Given the description of an element on the screen output the (x, y) to click on. 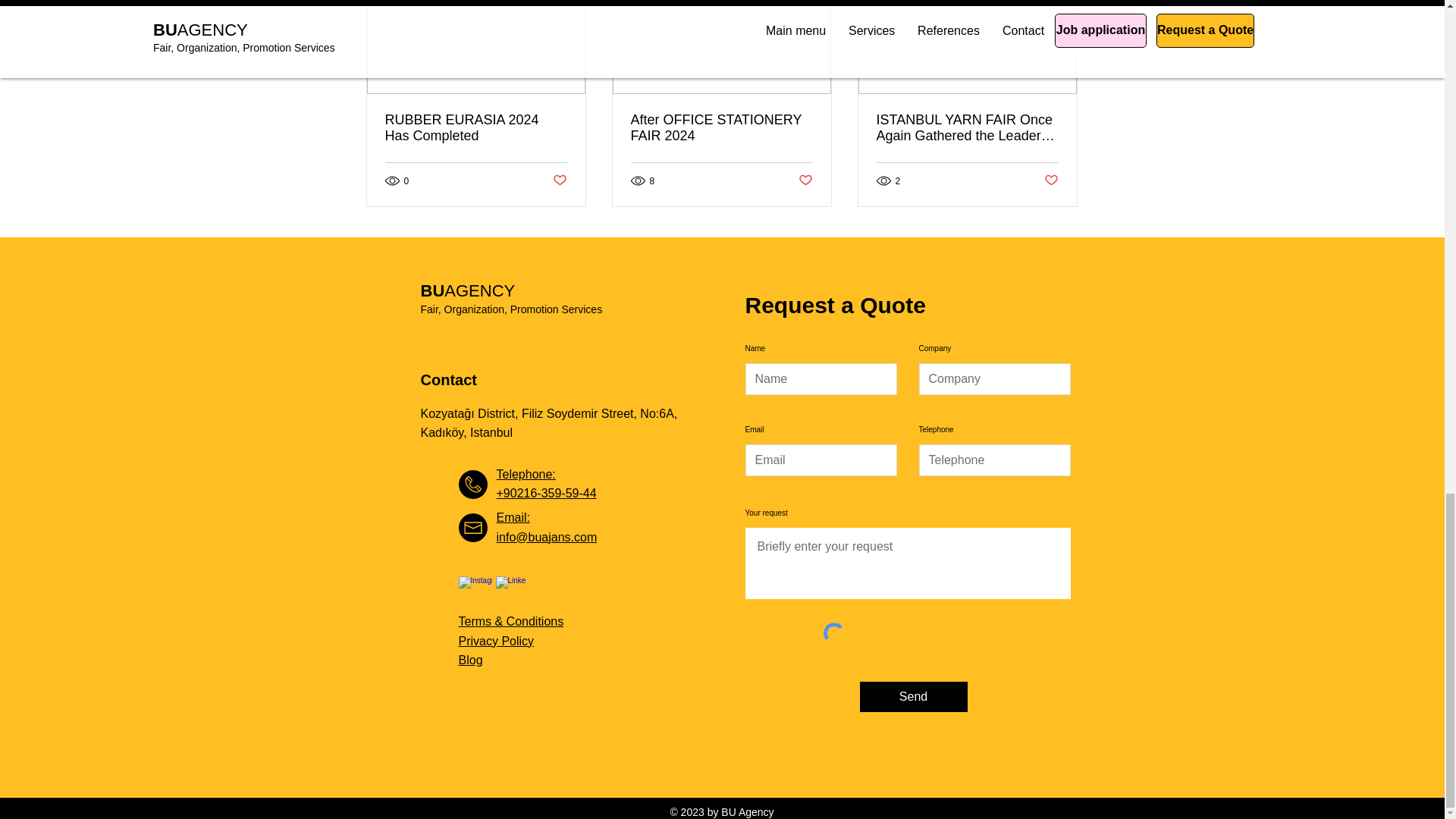
BUAGENCY (467, 290)
Privacy Policy (496, 640)
Post not marked as liked (1050, 180)
Blog (469, 659)
After OFFICE STATIONERY FAIR 2024 (721, 128)
RUBBER EURASIA 2024 Has Completed (476, 128)
Post not marked as liked (558, 180)
Post not marked as liked (804, 180)
